Given the description of an element on the screen output the (x, y) to click on. 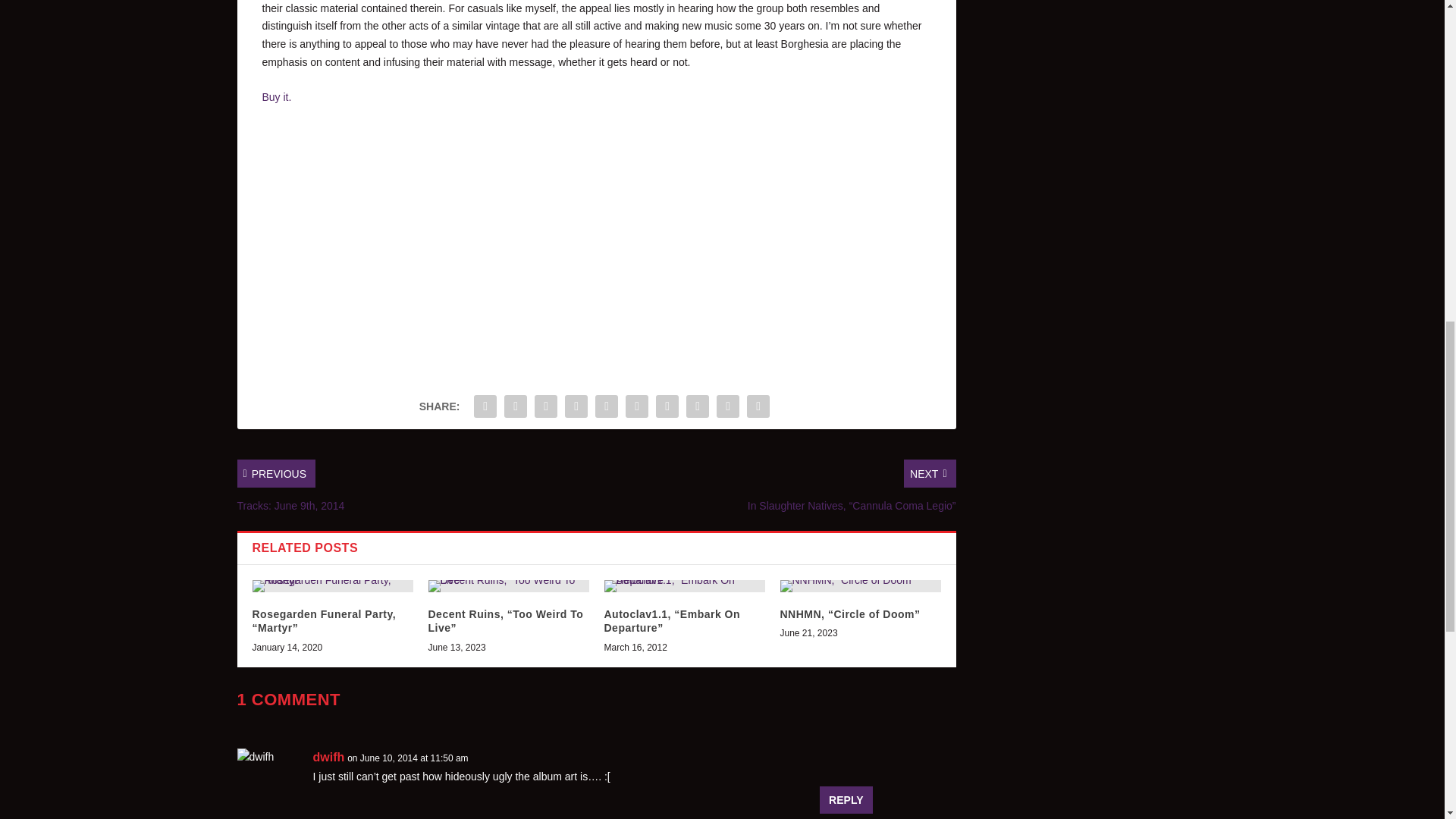
REPLY (845, 800)
Buy it. (277, 96)
